Given the description of an element on the screen output the (x, y) to click on. 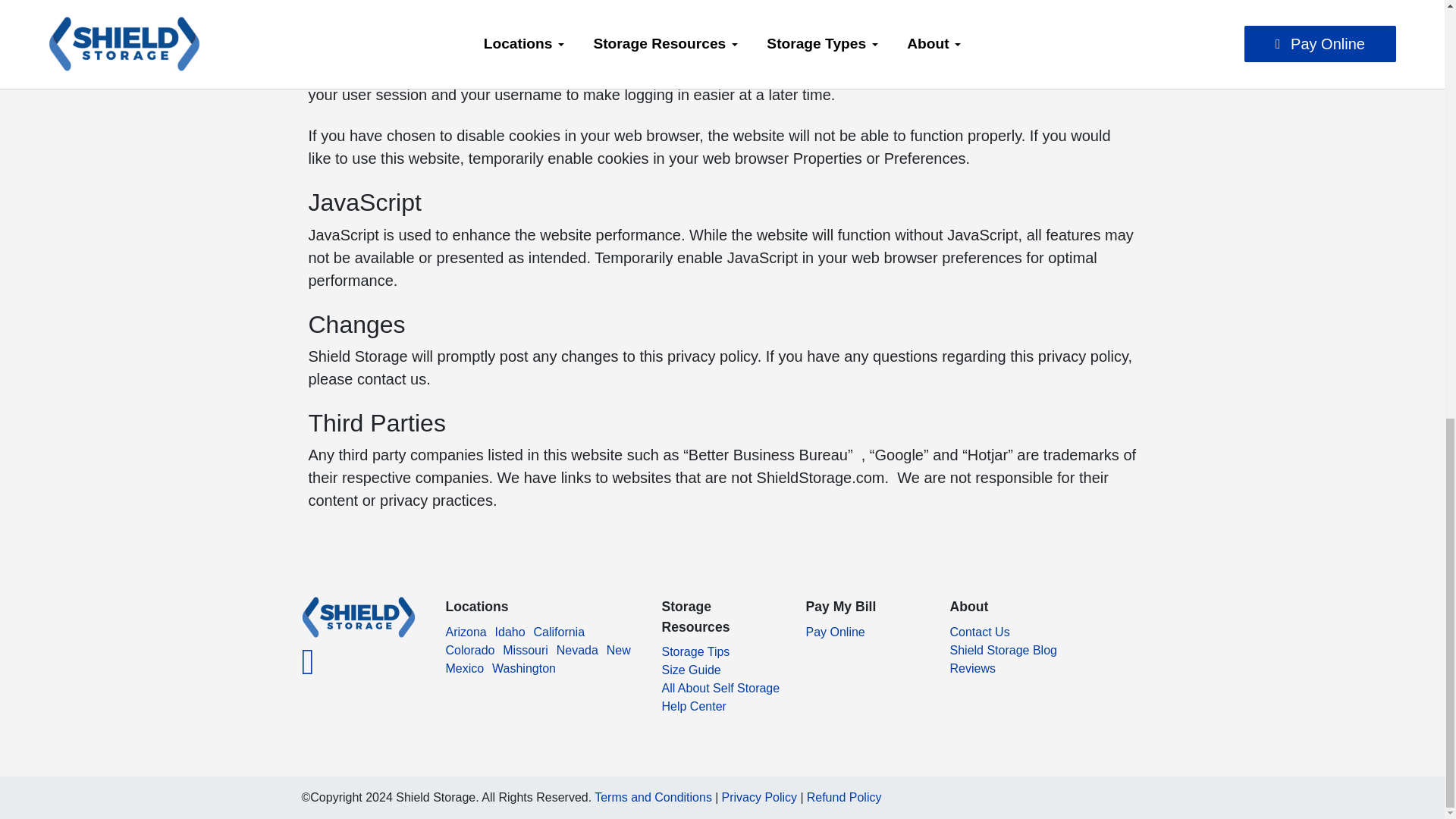
Colorado (470, 649)
Nevada (577, 649)
Missouri (525, 649)
facebook (308, 669)
Arizona (465, 631)
California (558, 631)
Idaho (510, 631)
